Given the description of an element on the screen output the (x, y) to click on. 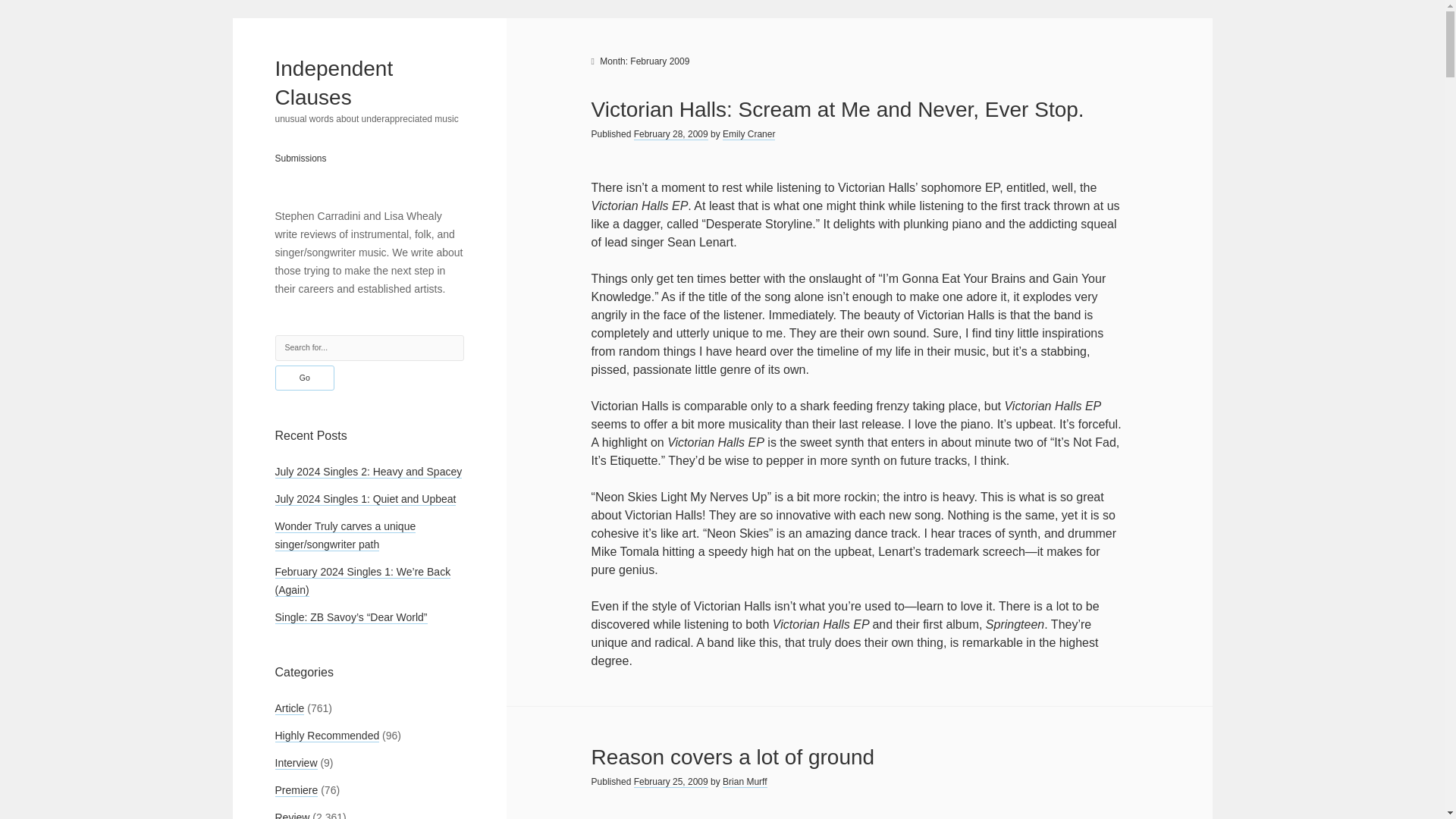
Go (304, 378)
Interview (296, 762)
Premiere (296, 789)
Go (304, 378)
July 2024 Singles 1: Quiet and Upbeat (365, 499)
Independent Clauses (334, 82)
July 2024 Singles 2: Heavy and Spacey (368, 472)
Go (304, 378)
Search for: (369, 347)
Article (289, 707)
Submissions (300, 158)
Review (291, 815)
Highly Recommended (326, 735)
